Given the description of an element on the screen output the (x, y) to click on. 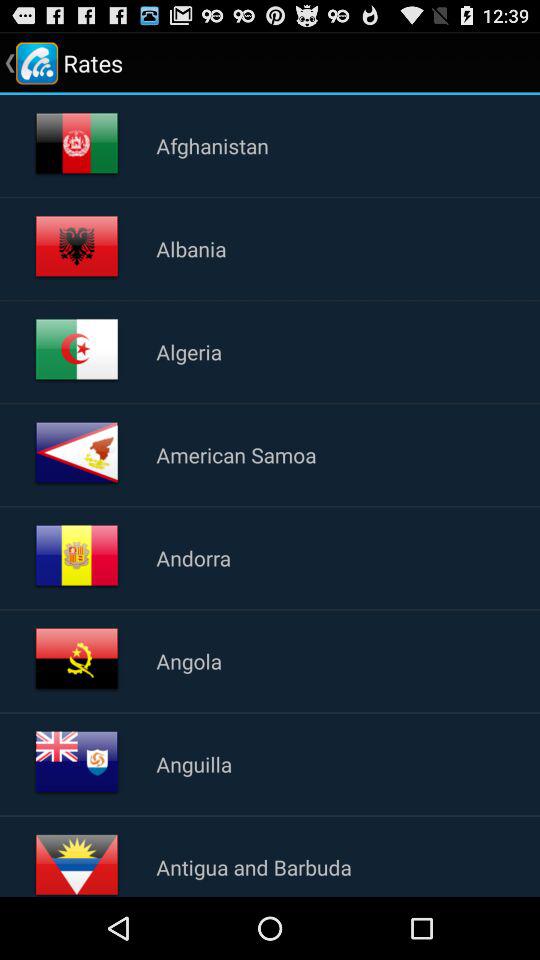
launch app below albania item (189, 351)
